Given the description of an element on the screen output the (x, y) to click on. 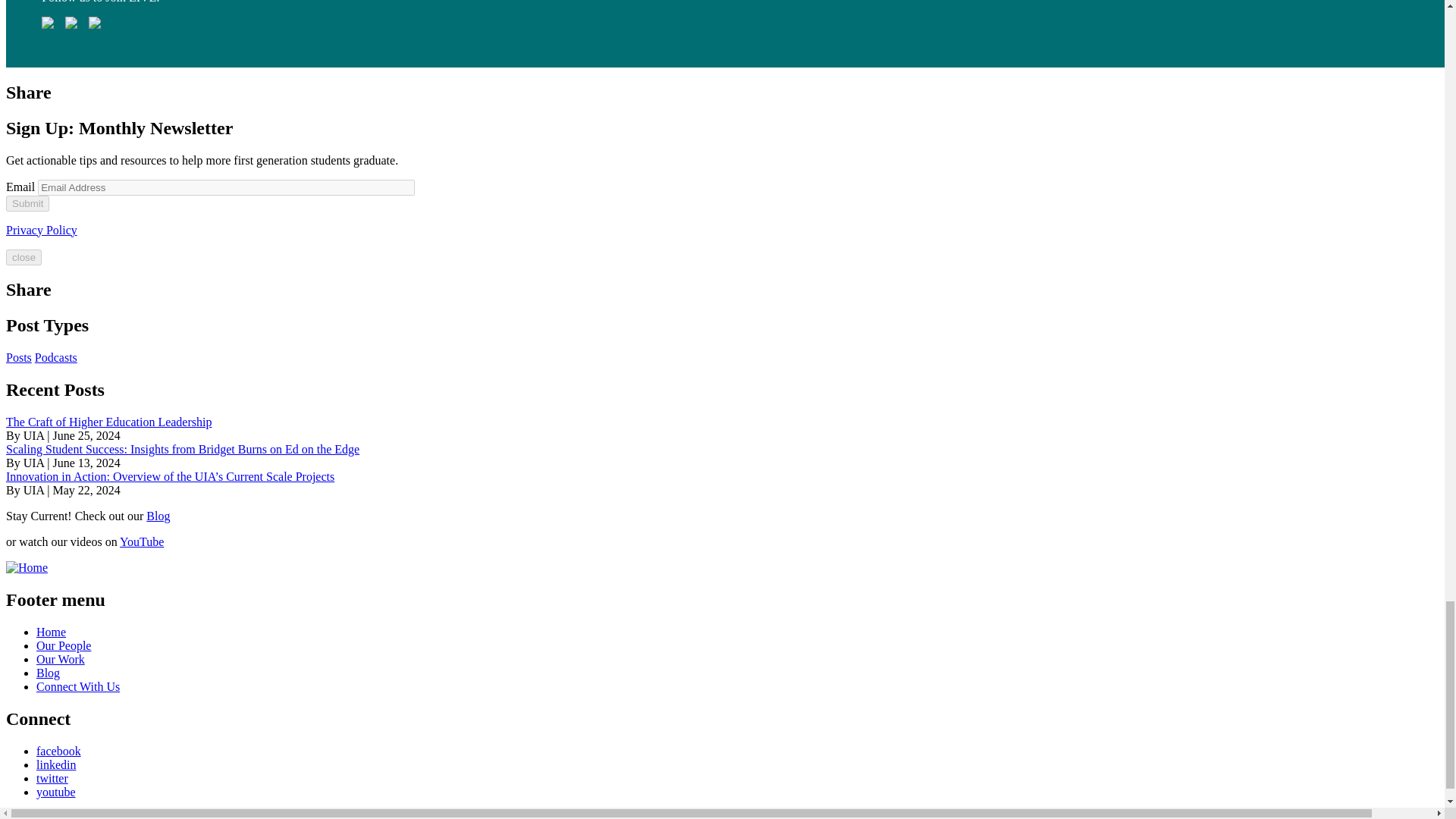
Submit (27, 203)
close (23, 256)
Home (26, 567)
